Given the description of an element on the screen output the (x, y) to click on. 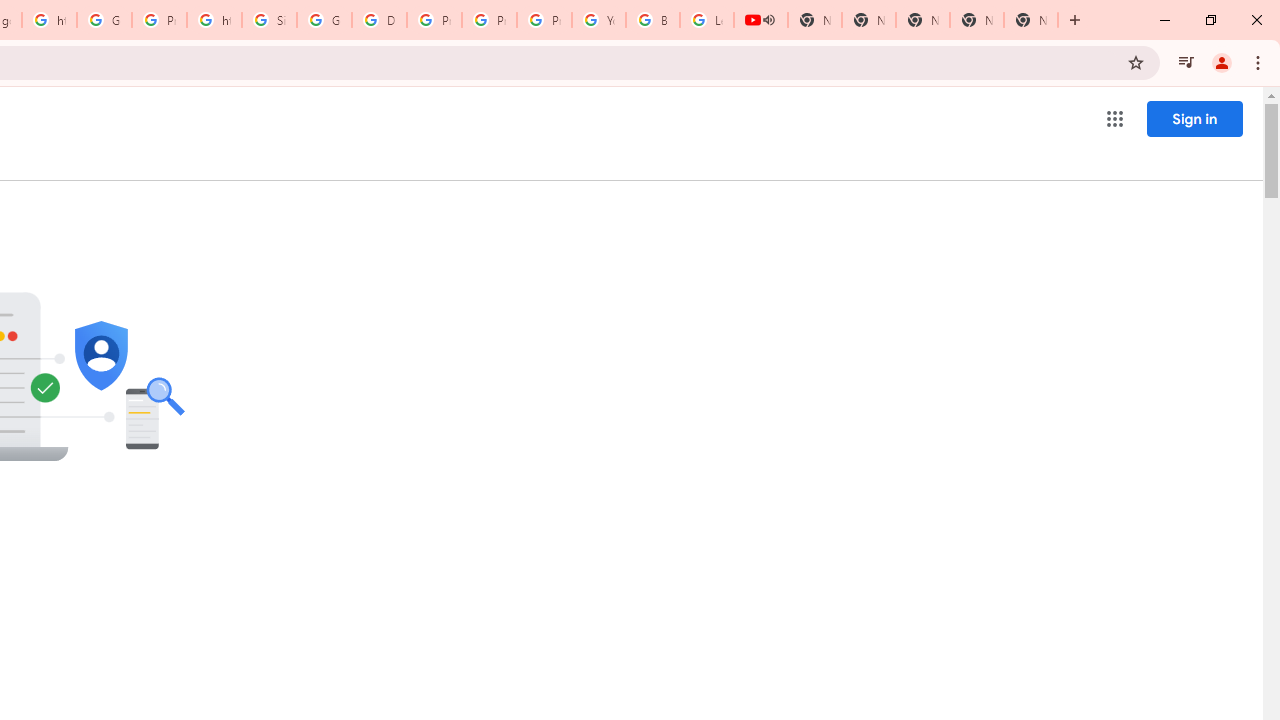
Privacy Help Center - Policies Help (489, 20)
Privacy Help Center - Policies Help (434, 20)
https://scholar.google.com/ (48, 20)
Sign in - Google Accounts (268, 20)
YouTube (598, 20)
